Given the description of an element on the screen output the (x, y) to click on. 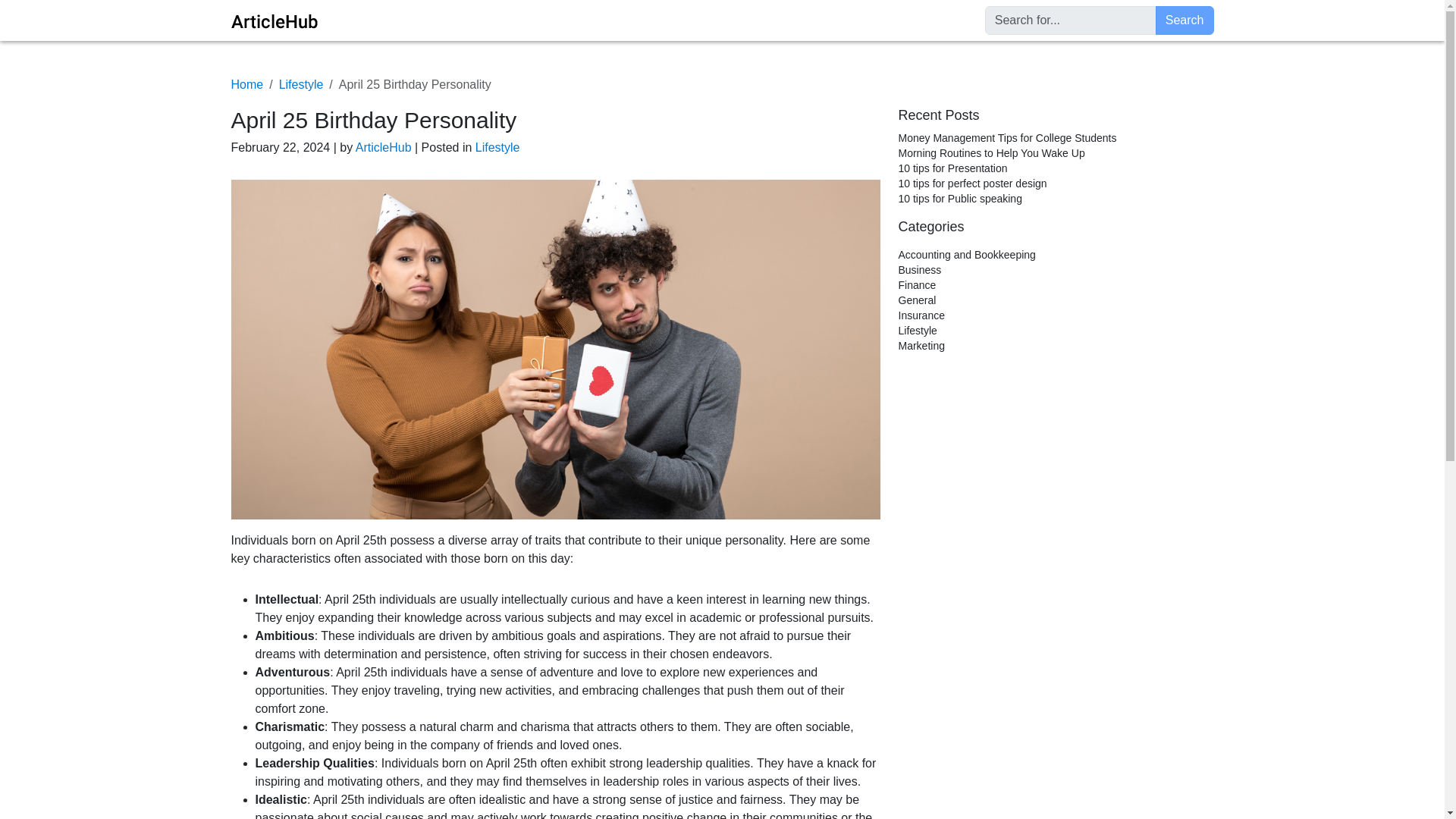
Search (1185, 20)
Lifestyle (301, 83)
10 tips for perfect poster design (972, 183)
Accounting and Bookkeeping (966, 254)
Lifestyle (497, 146)
Insurance (920, 315)
Business (919, 269)
Morning Routines to Help You Wake Up (991, 152)
10 tips for Presentation (952, 168)
Money Management Tips for College Students (1007, 137)
Marketing (920, 345)
ArticleHub (384, 146)
10 tips for Public speaking (960, 198)
Finance (917, 285)
Home (246, 83)
